Given the description of an element on the screen output the (x, y) to click on. 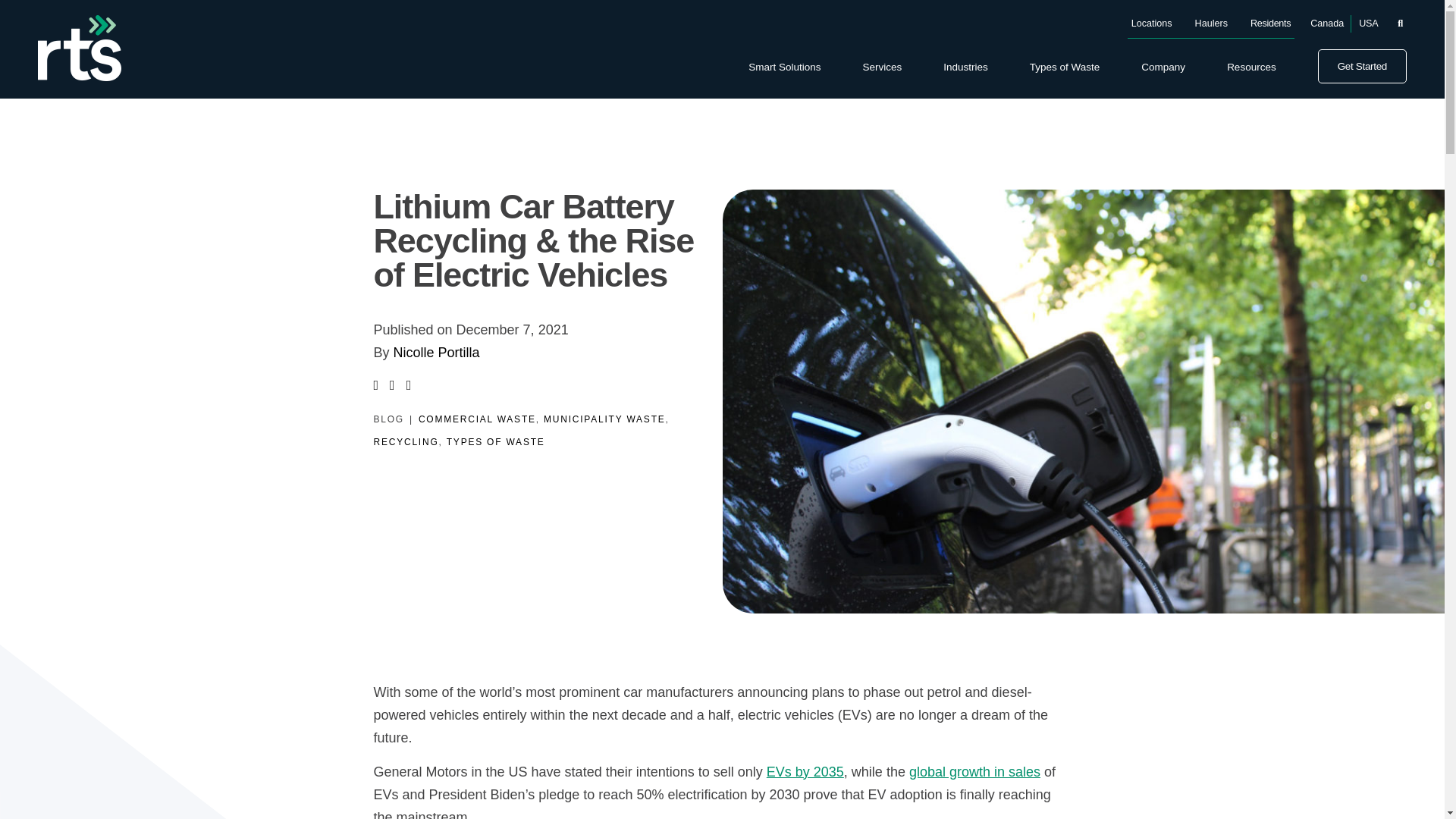
Types of Waste (1064, 67)
Industries (965, 67)
Services (881, 67)
Smart Solutions (784, 67)
Company (1163, 67)
